Given the description of an element on the screen output the (x, y) to click on. 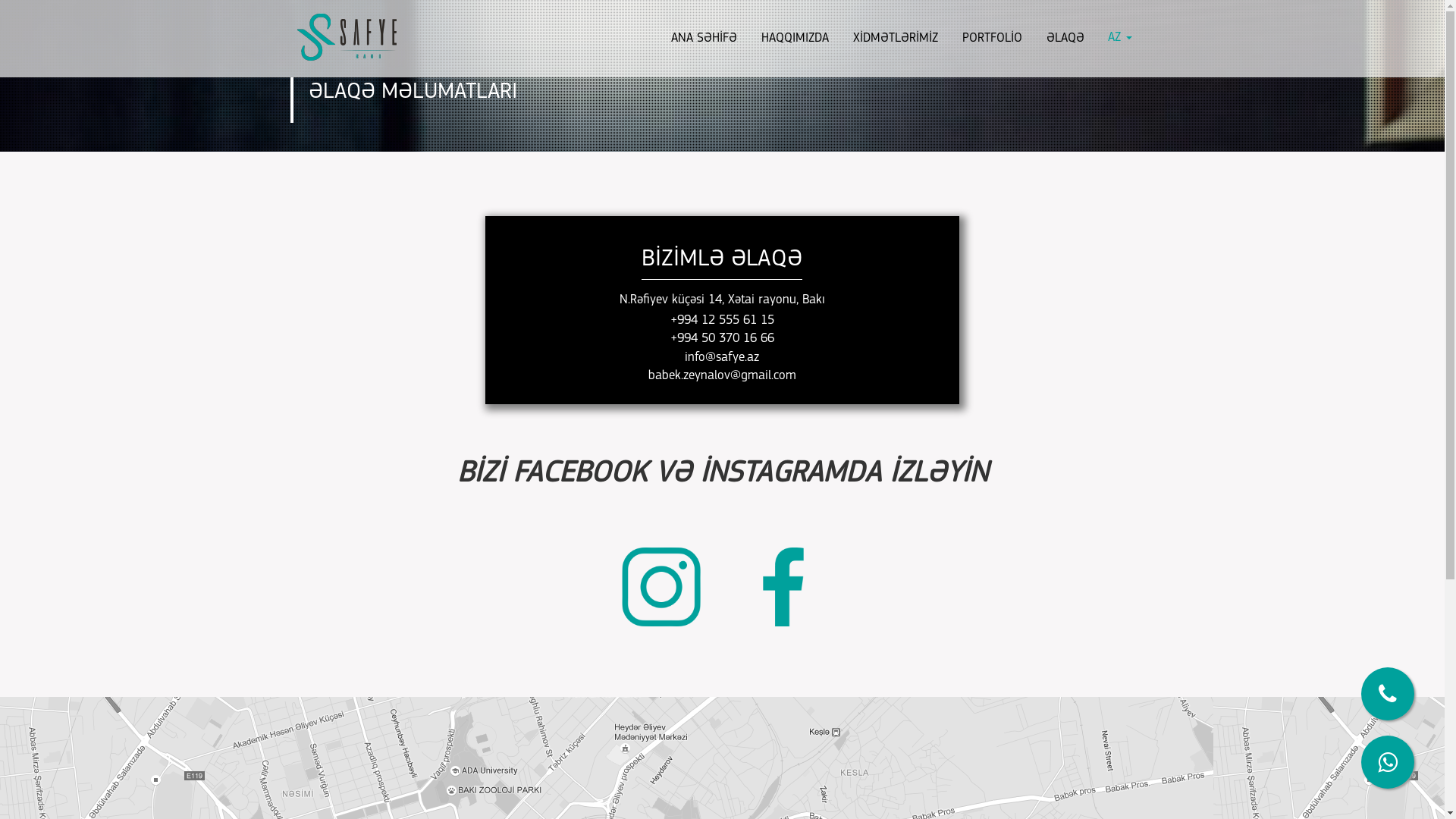
+994 12 555 61 15 Element type: text (722, 319)
AZ Element type: text (1119, 37)
info@safye.az Element type: text (721, 357)
+994 50 370 16 66 Element type: text (722, 338)
HAQQIMIZDA Element type: text (794, 38)
babek.zeynalov@gmail.com Element type: text (722, 375)
